Given the description of an element on the screen output the (x, y) to click on. 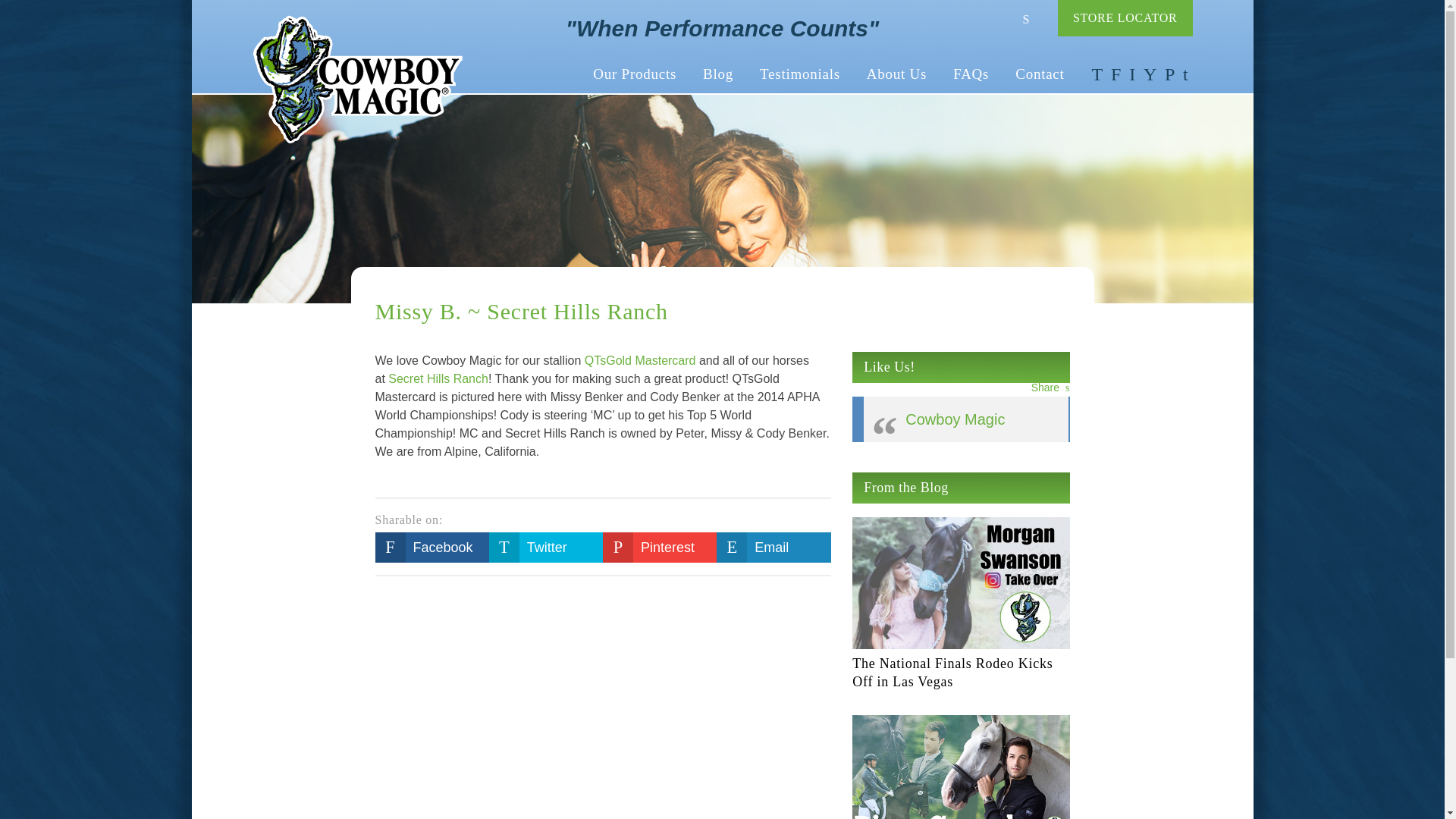
Share (1050, 387)
Our Products (633, 74)
Contact (1039, 74)
Blog (717, 74)
STORE LOCATOR (1125, 18)
Search (1023, 18)
FAQs (971, 74)
Cowboy Magic (357, 79)
Secret Hills Ranch (437, 379)
About Us (896, 74)
QTsGold Mastercard (640, 360)
Testimonials (799, 74)
